Given the description of an element on the screen output the (x, y) to click on. 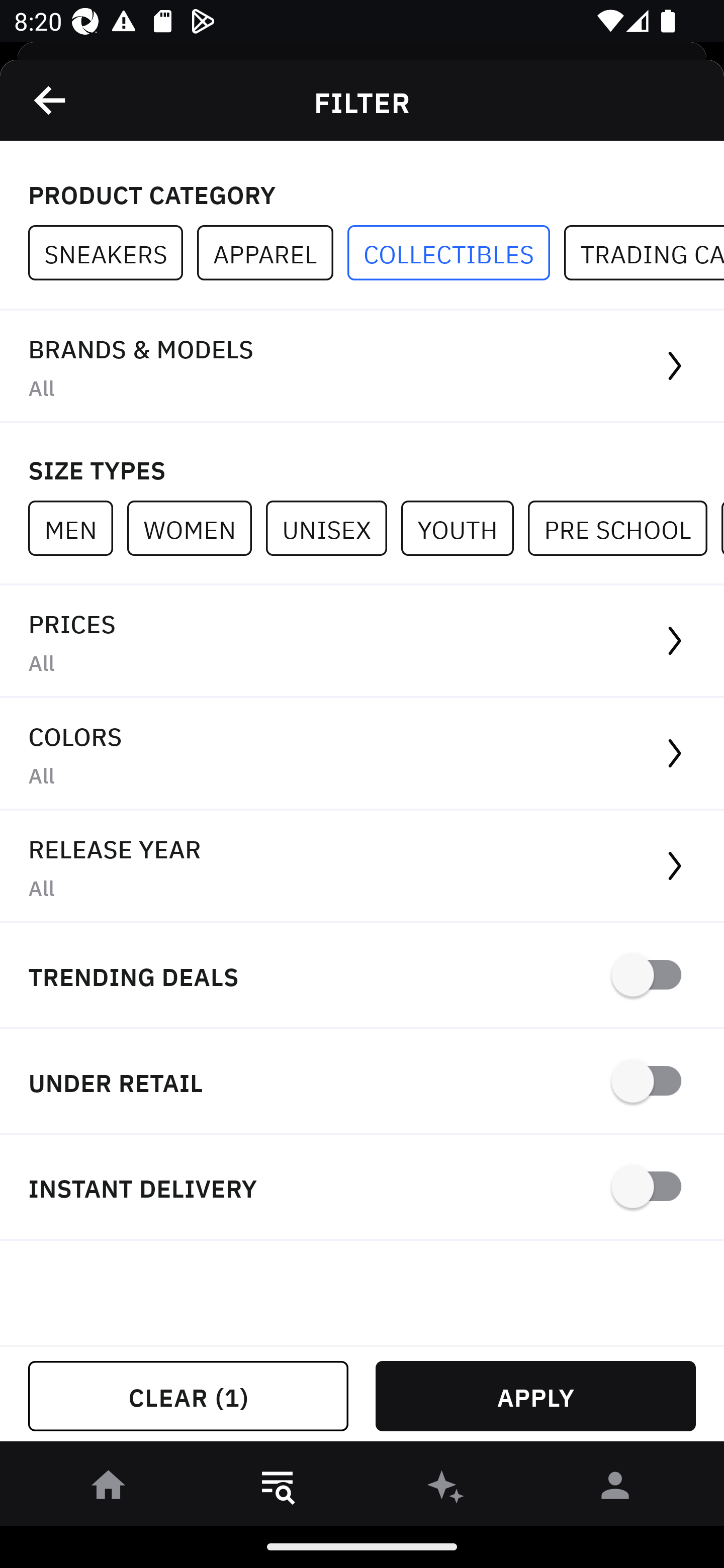
 (50, 100)
SNEAKERS (112, 252)
APPAREL (271, 252)
COLLECTIBLES (455, 252)
TRADING CARDS (643, 252)
BRANDS & MODELS All (362, 366)
MEN (77, 527)
WOMEN (196, 527)
UNISEX (333, 527)
YOUTH (464, 527)
PRE SCHOOL (624, 527)
PRICES All (362, 640)
COLORS All (362, 753)
RELEASE YEAR All (362, 866)
TRENDING DEALS (362, 975)
UNDER RETAIL (362, 1081)
INSTANT DELIVERY (362, 1187)
CLEAR (1) (188, 1396)
APPLY (535, 1396)
󰋜 (108, 1488)
󱎸 (277, 1488)
󰫢 (446, 1488)
󰀄 (615, 1488)
